Given the description of an element on the screen output the (x, y) to click on. 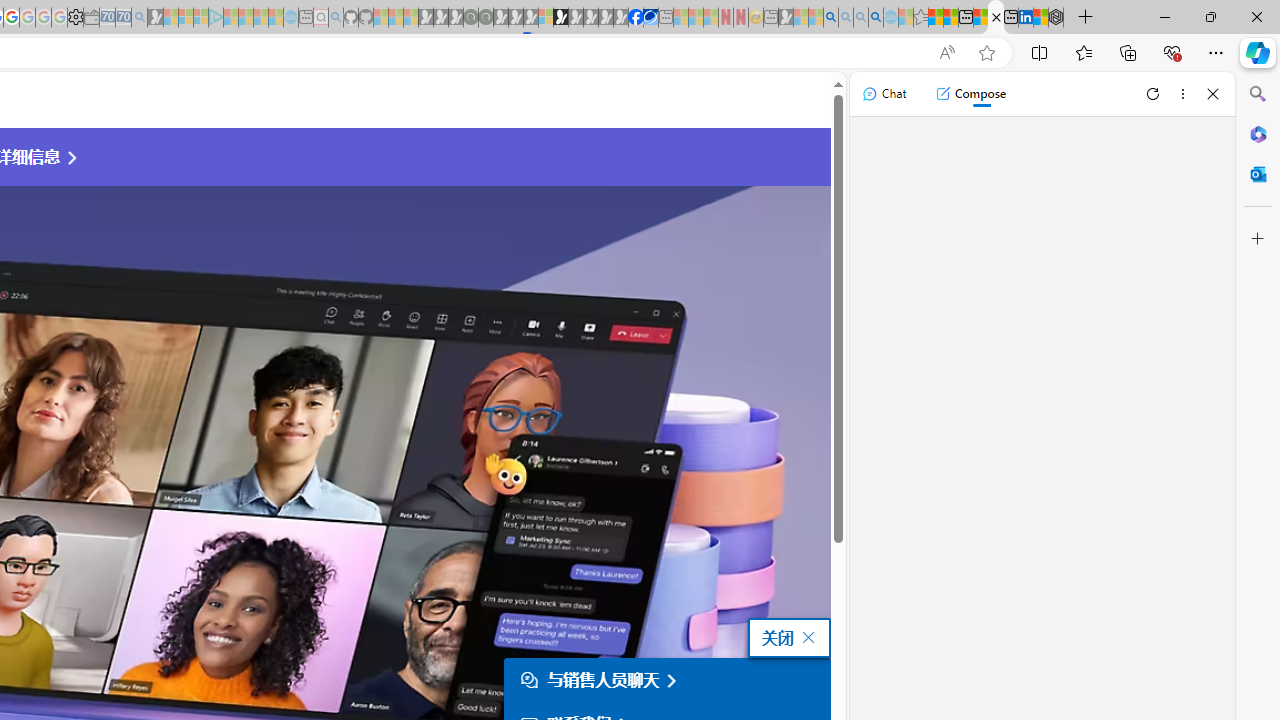
Google Chrome Internet Browser Download - Search Images (876, 17)
LinkedIn (1025, 17)
MSN - Sleeping (786, 17)
Close Customize pane (1258, 239)
Nordace - Summer Adventures 2024 (1055, 17)
Bing AI - Search (831, 17)
Sign in to your account - Sleeping (545, 17)
Wallet - Sleeping (91, 17)
